Given the description of an element on the screen output the (x, y) to click on. 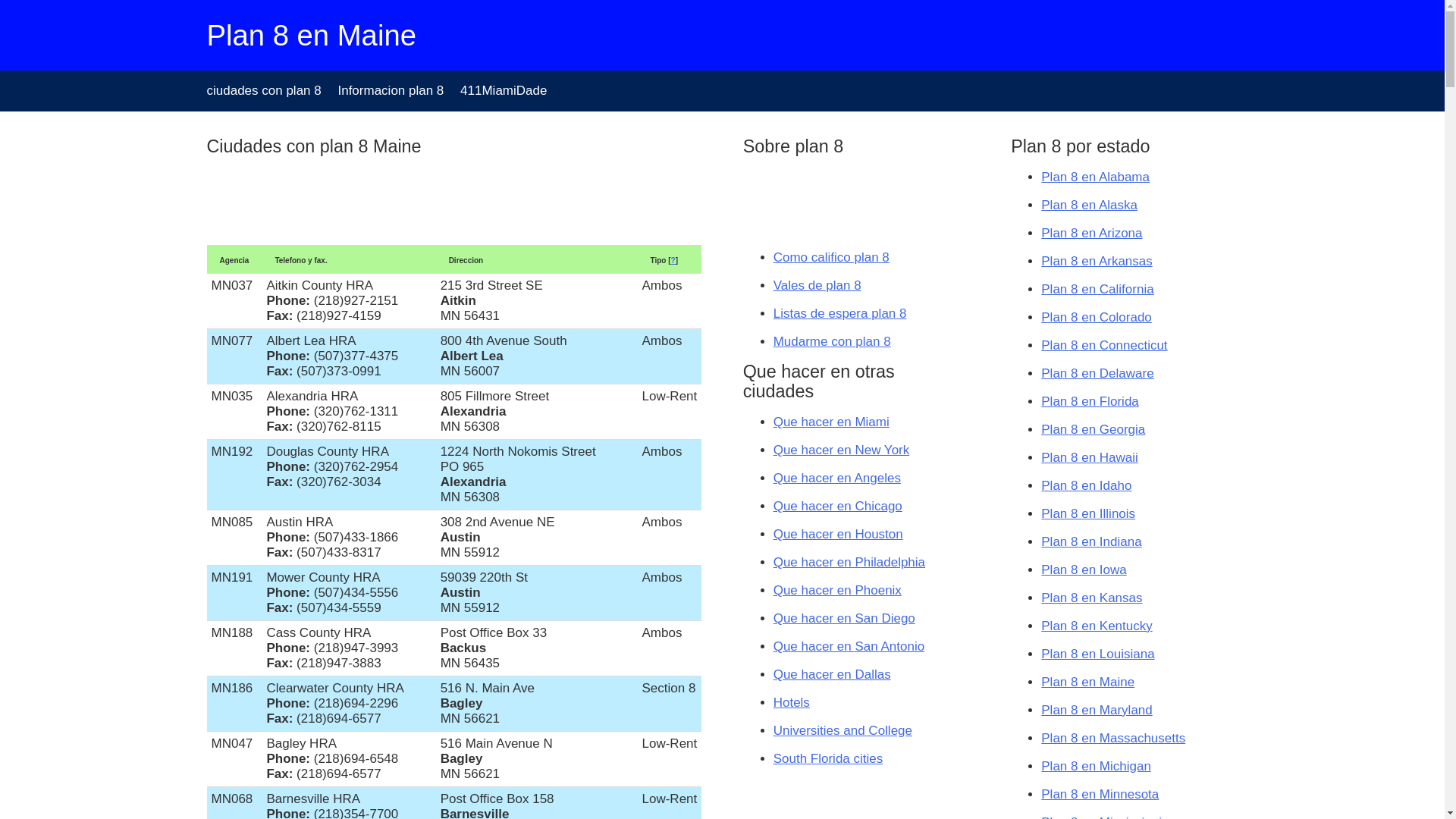
ciudades con plan 8 Element type: text (263, 90)
Bagley HRA Element type: text (301, 743)
Plan 8 en Minnesota Element type: text (1099, 794)
Plan 8 en Maryland Element type: text (1096, 709)
Albert Lea HRA Element type: text (310, 340)
Plan 8 en Iowa Element type: text (1083, 569)
Plan 8 en Alaska Element type: text (1089, 204)
Clearwater County HRA Element type: text (334, 687)
Plan 8 en Louisiana Element type: text (1097, 653)
Advertisement Element type: hover (818, 199)
Plan 8 en Michigan Element type: text (1096, 766)
Plan 8 en Arizona Element type: text (1091, 232)
Vales de plan 8 Element type: text (817, 285)
Que hacer en Phoenix Element type: text (837, 590)
Plan 8 en Hawaii Element type: text (1089, 457)
Que hacer en Dallas Element type: text (832, 674)
411MiamiDade Element type: text (503, 90)
Plan 8 en Connecticut Element type: text (1104, 345)
Plan 8 en California Element type: text (1097, 289)
Plan 8 en Florida Element type: text (1090, 401)
Mudarme con plan 8 Element type: text (832, 341)
Hotels Element type: text (791, 702)
Plan 8 en Delaware Element type: text (1097, 373)
Listas de espera plan 8 Element type: text (839, 313)
Plan 8 en Illinois Element type: text (1088, 513)
Mower County HRA Element type: text (322, 577)
Como califico plan 8 Element type: text (831, 257)
Plan 8 en Alabama Element type: text (1095, 176)
Douglas County HRA Element type: text (327, 451)
Plan 8 en Kentucky Element type: text (1096, 625)
Plan 8 en Arkansas Element type: text (1096, 261)
Que hacer en San Diego Element type: text (844, 618)
Que hacer en Angeles Element type: text (836, 477)
Plan 8 en Idaho Element type: text (1086, 485)
South Florida cities Element type: text (828, 758)
? Element type: text (673, 260)
Plan 8 en Massachusetts Element type: text (1113, 738)
Que hacer en Miami Element type: text (831, 421)
Plan 8 en Georgia Element type: text (1093, 429)
Plan 8 en Colorado Element type: text (1096, 317)
Que hacer en Houston Element type: text (838, 534)
Advertisement Element type: hover (327, 203)
Que hacer en Philadelphia Element type: text (849, 562)
Que hacer en New York Element type: text (841, 449)
Plan 8 en Indiana Element type: text (1091, 541)
Informacion plan 8 Element type: text (390, 90)
Universities and College Element type: text (842, 730)
Que hacer en San Antonio Element type: text (848, 646)
Cass County HRA Element type: text (318, 632)
Plan 8 en Kansas Element type: text (1091, 597)
Plan 8 en Maine Element type: text (1087, 681)
Alexandria HRA Element type: text (311, 396)
Aitkin County HRA Element type: text (319, 285)
Que hacer en Chicago Element type: text (837, 505)
